Given the description of an element on the screen output the (x, y) to click on. 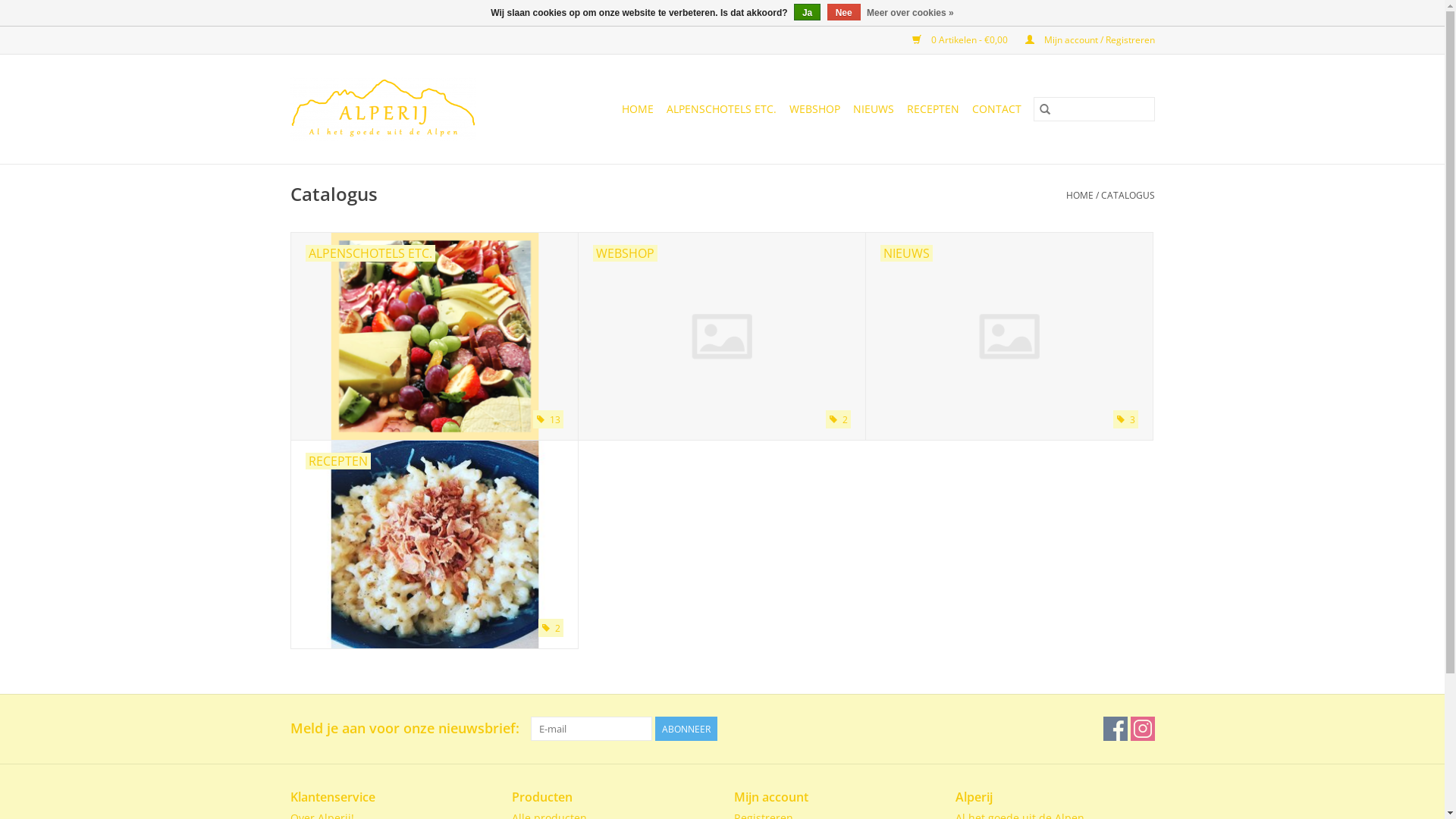
ABONNEER Element type: text (686, 728)
Alperij Element type: hover (400, 109)
Zoeken Element type: hover (1043, 109)
CATALOGUS Element type: text (1127, 194)
Webshop Element type: hover (720, 336)
HOME Element type: text (1079, 194)
Nee Element type: text (843, 11)
NIEUWS Element type: text (872, 109)
Ja Element type: text (806, 11)
Nieuws Element type: hover (1009, 336)
Mijn account / Registreren Element type: text (1082, 39)
RECEPTEN Element type: text (932, 109)
Recepten Element type: hover (434, 544)
WEBSHOP Element type: text (814, 109)
Alpenschotels etc. Element type: hover (434, 336)
WEBSHOP
2 Element type: text (720, 336)
NIEUWS
3 Element type: text (1009, 336)
ALPENSCHOTELS ETC. Element type: text (720, 109)
HOME Element type: text (637, 109)
RECEPTEN
2 Element type: text (434, 544)
CONTACT Element type: text (996, 109)
ALPENSCHOTELS ETC.
13 Element type: text (434, 336)
